Given the description of an element on the screen output the (x, y) to click on. 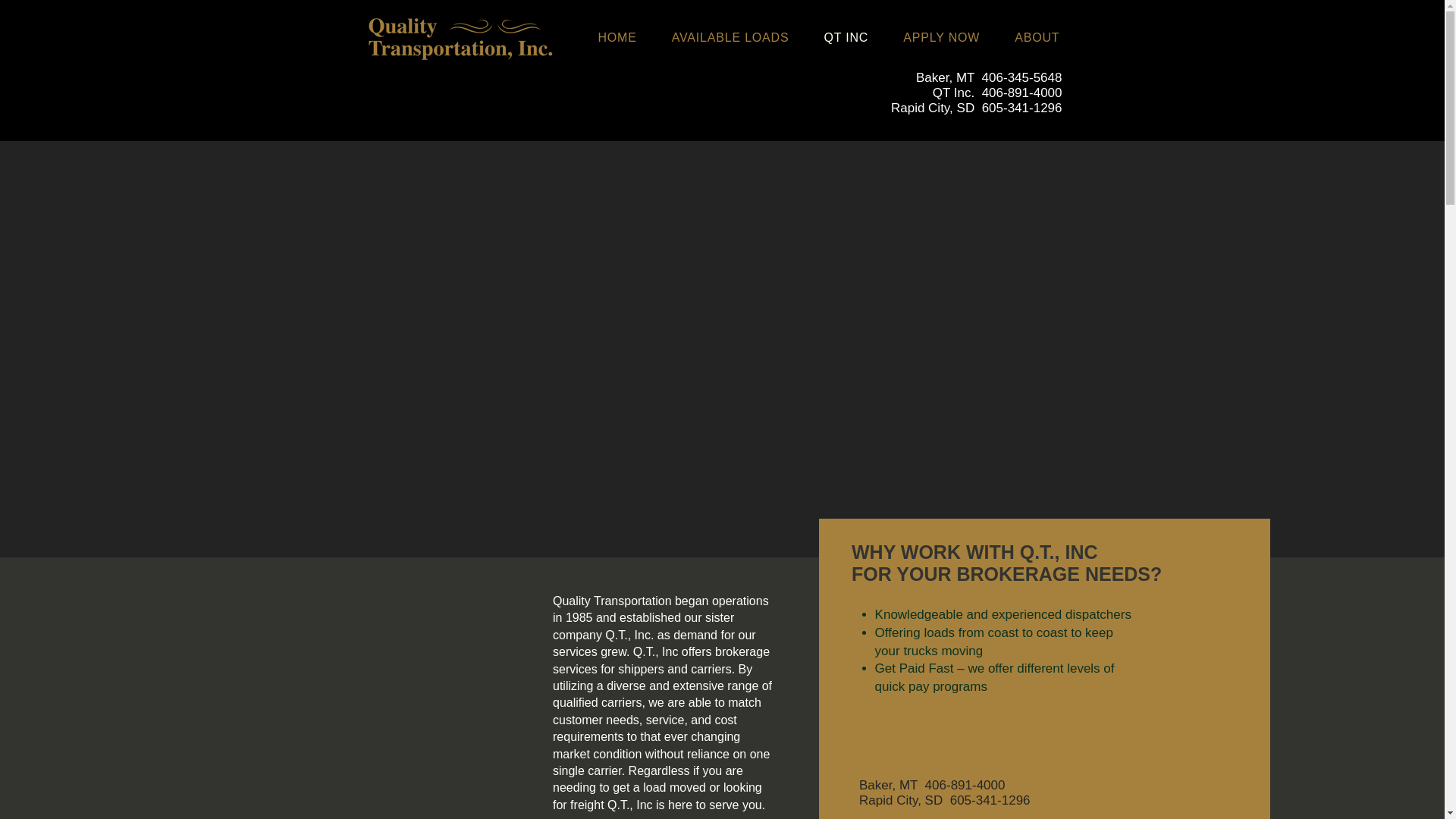
Baker, MT  406-345-5648 (988, 77)
406-891-4000 (965, 785)
QT INC (854, 37)
HOME (626, 37)
406-891-4000 (1021, 92)
605-341-1296 (990, 800)
AVAILABLE LOADS (740, 37)
605-341-1296 (1021, 107)
APPLY NOW (951, 37)
ABOUT (1046, 37)
